Given the description of an element on the screen output the (x, y) to click on. 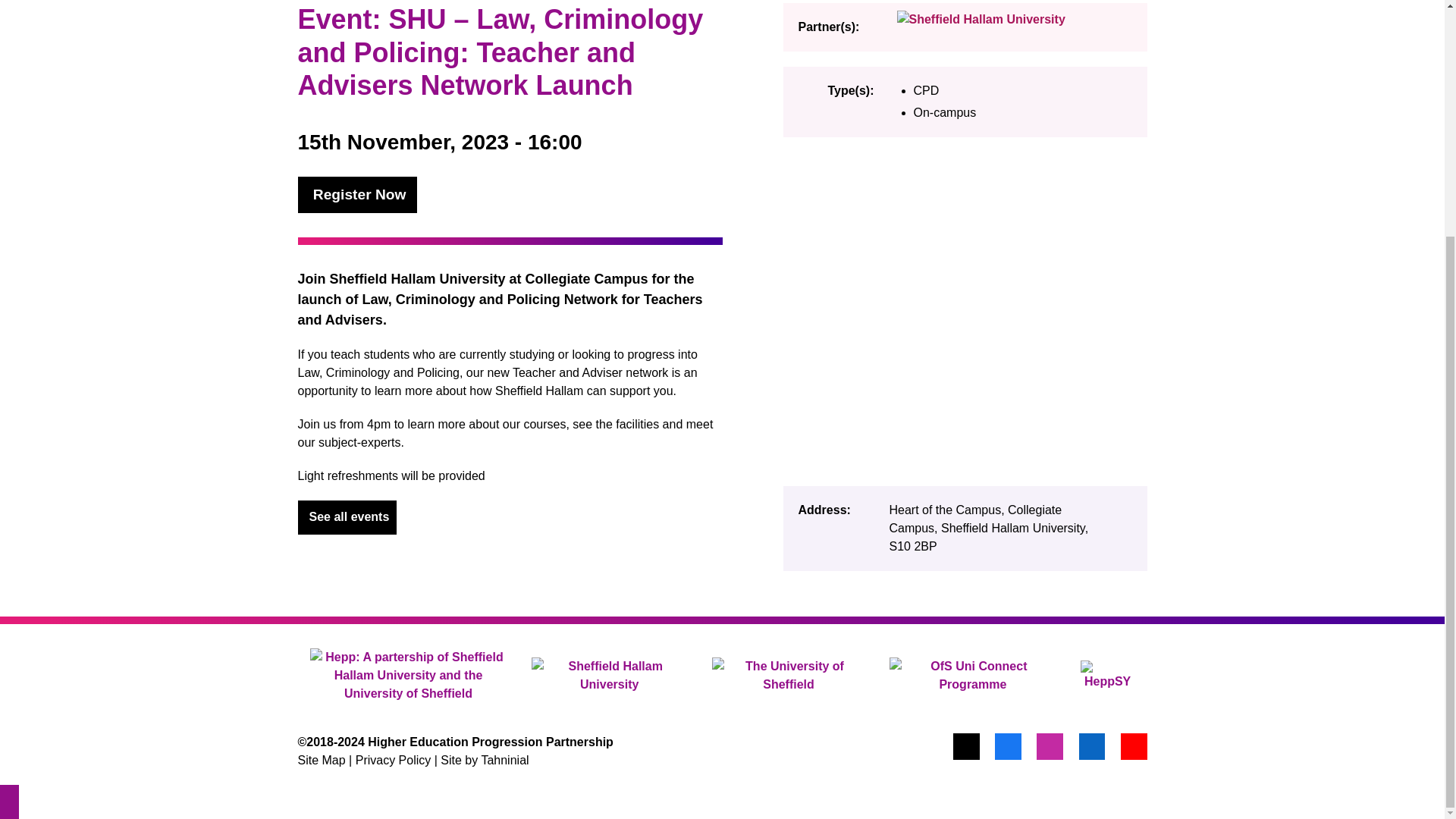
Visit Hepp on Instagram (1049, 746)
Visit Hepp on YouTube (1134, 746)
Visit Hepp on LinkedIn (1091, 746)
Visit Hepp on Facebook (1008, 746)
